Given the description of an element on the screen output the (x, y) to click on. 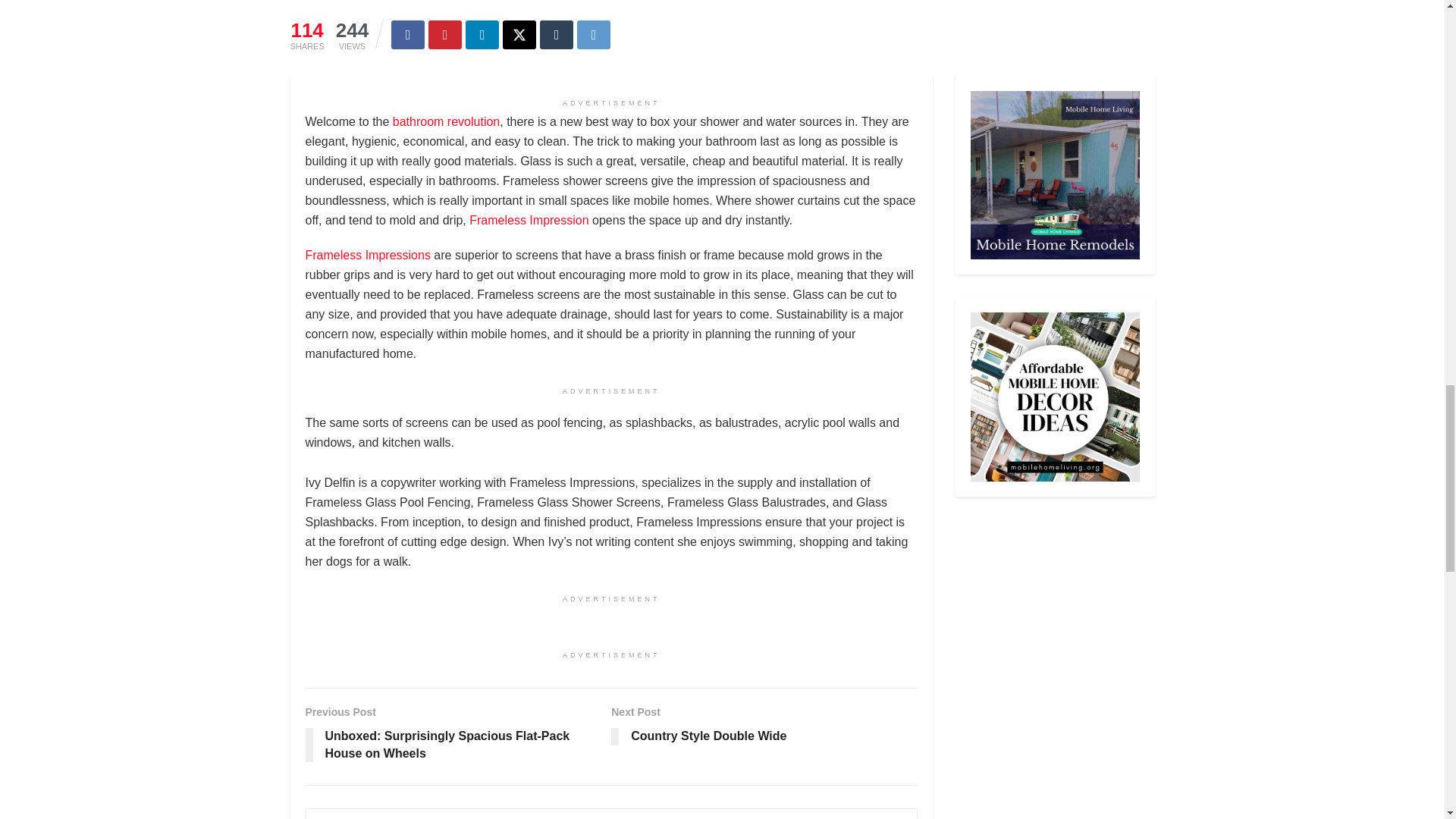
Mobile Home Bathroom Guide (446, 121)
